Given the description of an element on the screen output the (x, y) to click on. 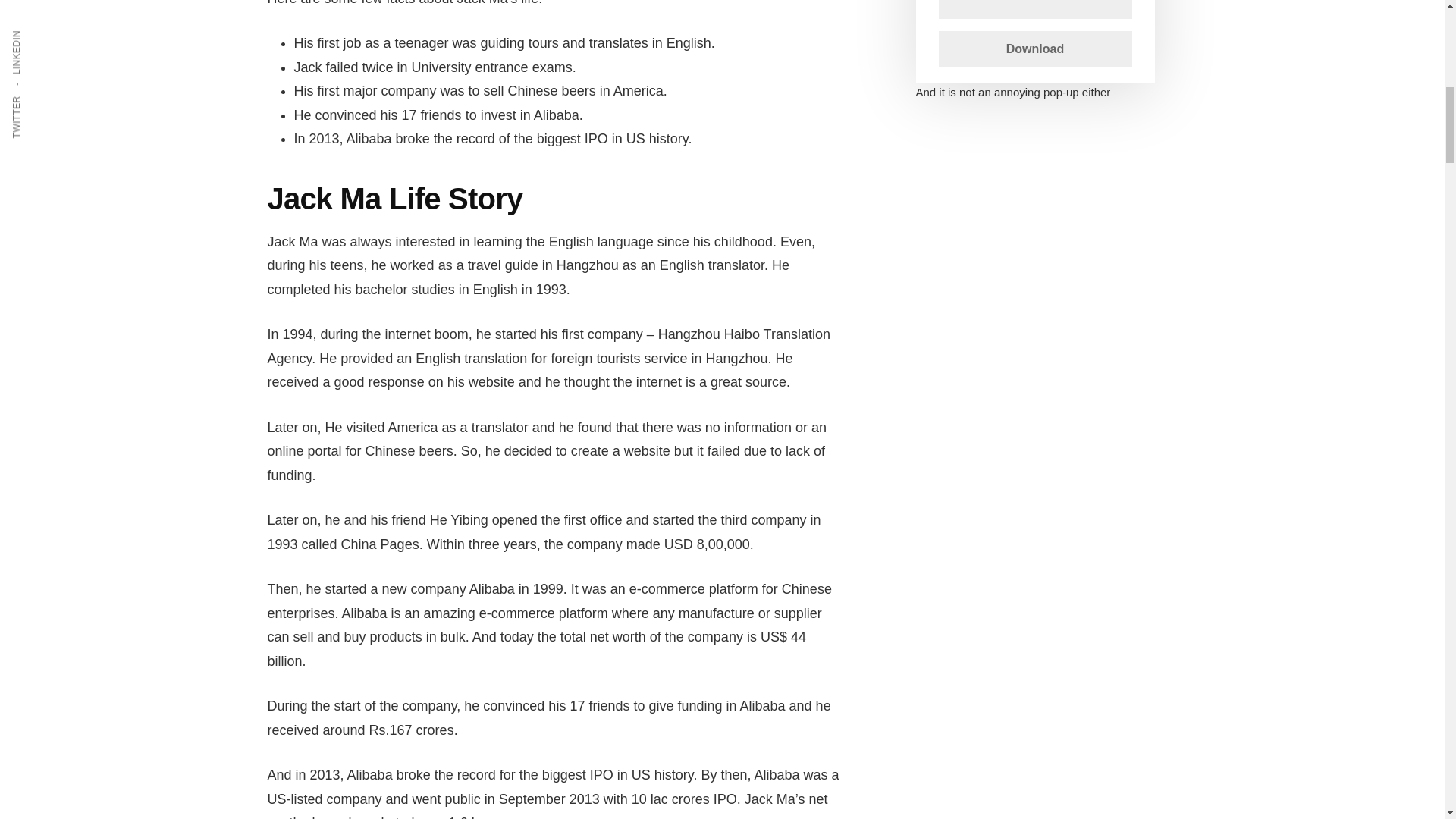
Download (1035, 49)
Download (1035, 49)
